Given the description of an element on the screen output the (x, y) to click on. 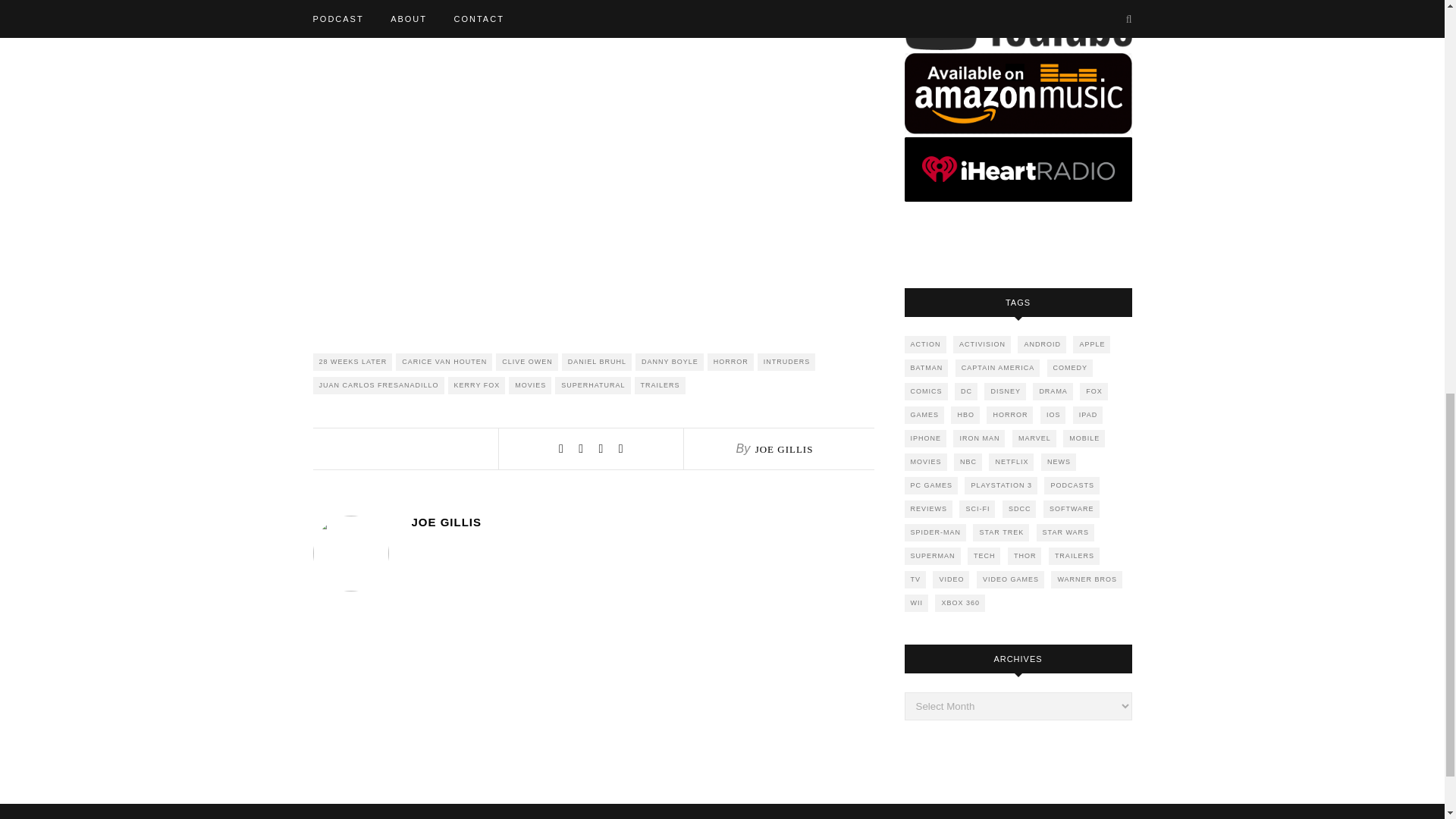
DANNY BOYLE (668, 361)
INTRUDERS (786, 361)
MOVIES (529, 384)
Posts by Joe Gillis (641, 521)
TRAILERS (659, 384)
CARICE VAN HOUTEN (444, 361)
JOE GILLIS (784, 449)
Posts by Joe Gillis (784, 449)
CLIVE OWEN (526, 361)
HORROR (730, 361)
JUAN CARLOS FRESANADILLO (378, 384)
28 WEEKS LATER (352, 361)
KERRY FOX (476, 384)
DANIEL BRUHL (596, 361)
SUPERHATURAL (592, 384)
